Given the description of an element on the screen output the (x, y) to click on. 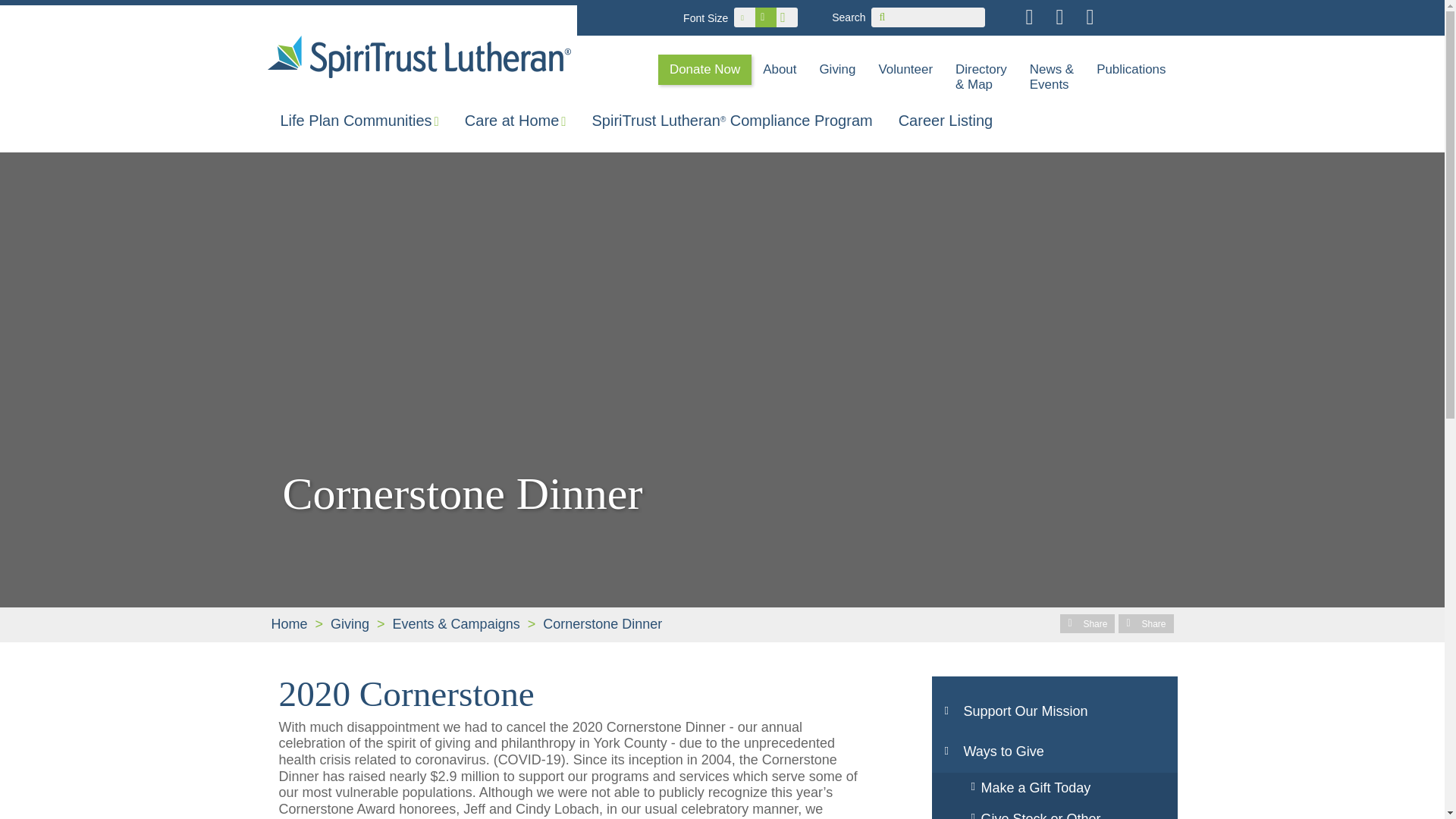
Life Plan Communities (358, 119)
Donate Now (704, 69)
Care at Home (515, 119)
Update Font Size: Small (744, 17)
Cornerstone Dinner (601, 623)
Career Listing (945, 119)
Home (288, 623)
Giving (837, 69)
Giving (349, 623)
Volunteer (904, 69)
